Given the description of an element on the screen output the (x, y) to click on. 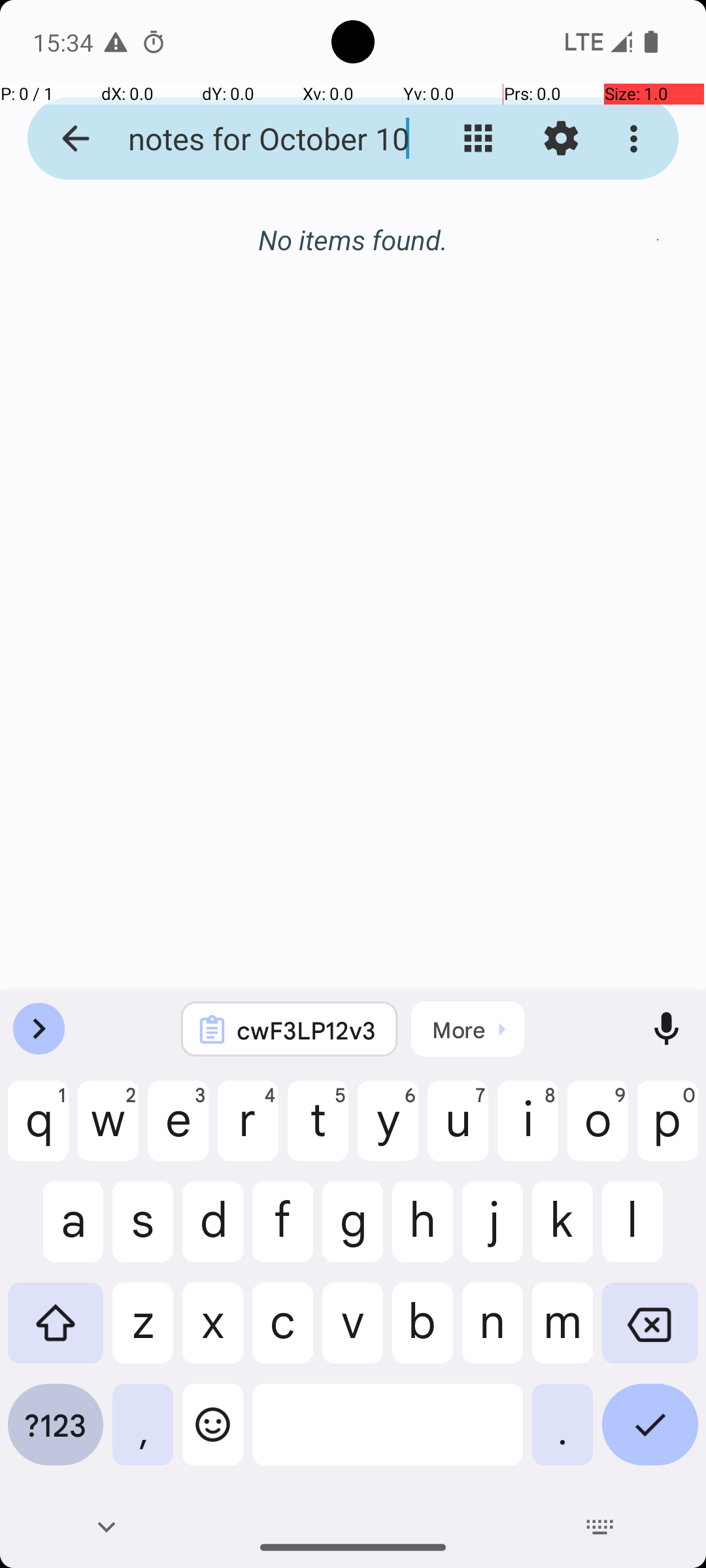
Meeting notes for October 10 Element type: android.widget.EditText (252, 138)
cwF3LP12v3 Element type: android.widget.TextView (306, 1029)
